Given the description of an element on the screen output the (x, y) to click on. 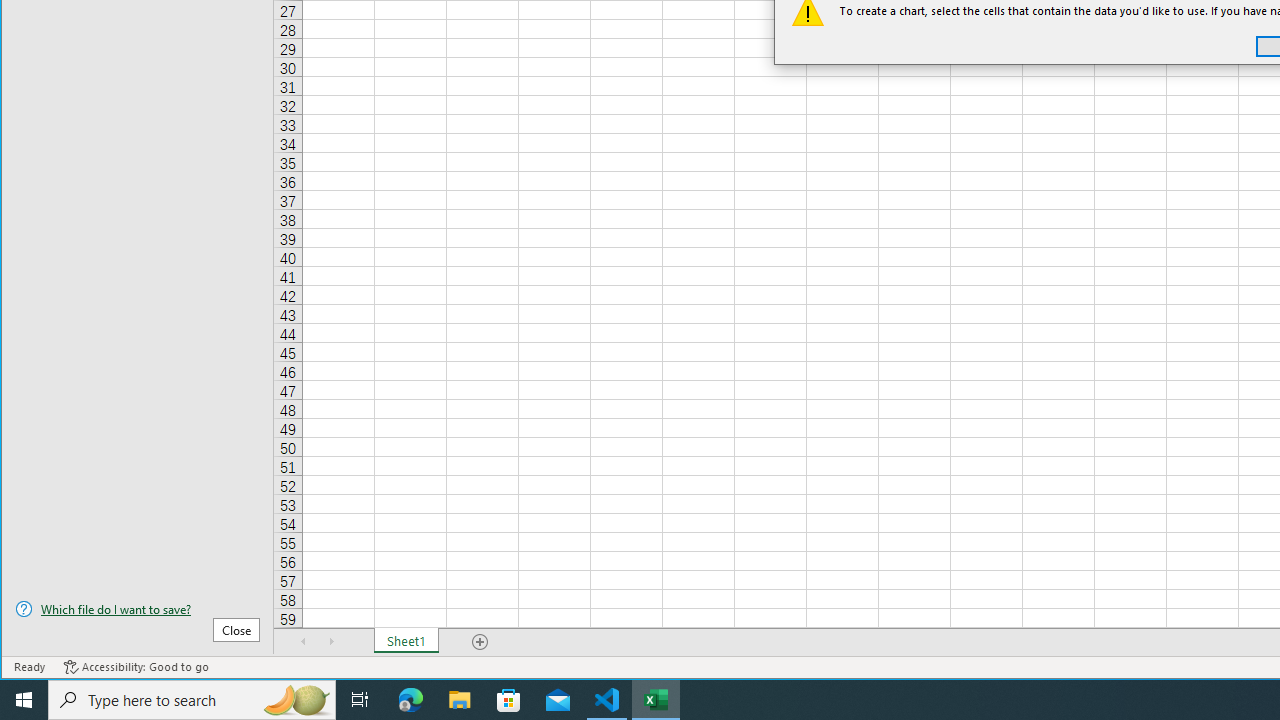
Sheet1 (406, 641)
Accessibility Checker Accessibility: Good to go (136, 667)
